Given the description of an element on the screen output the (x, y) to click on. 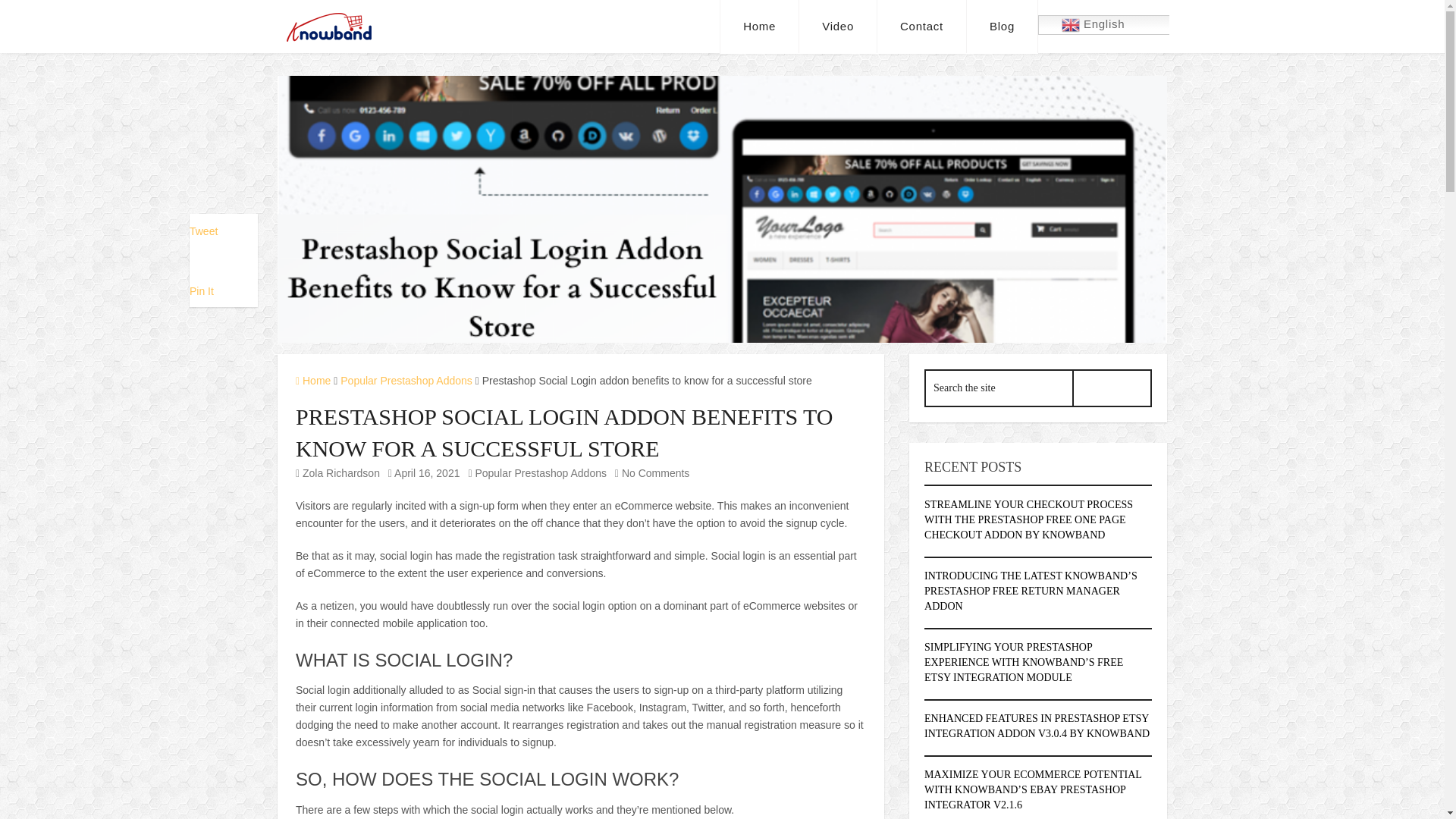
View all posts in Popular Prestashop Addons (540, 472)
Popular Prestashop Addons (540, 472)
Home (759, 26)
Search (1111, 388)
Tweet (202, 231)
Posts by Zola Richardson (341, 472)
No Comments (654, 472)
Zola Richardson (341, 472)
 Home (312, 380)
Search (1111, 388)
English (1122, 25)
Blog (1002, 26)
Pin It (201, 291)
Contact (921, 26)
